Given the description of an element on the screen output the (x, y) to click on. 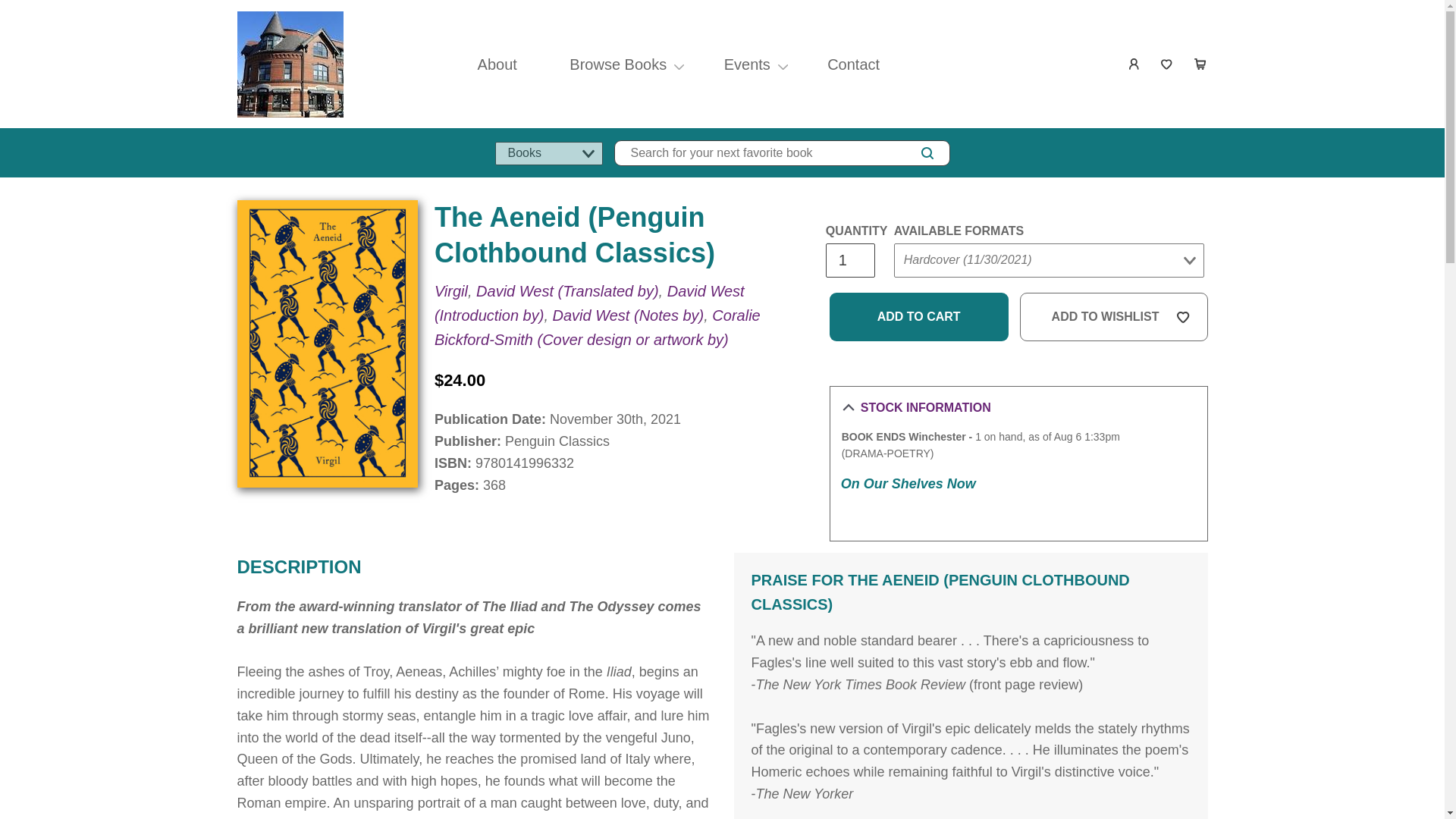
Contact (852, 64)
Events (747, 64)
Log in (1134, 64)
Add to cart (919, 316)
Add to cart (919, 316)
ADD TO WISHLIST (1114, 316)
SEARCH (926, 152)
1 (850, 260)
Browse Books (617, 64)
Wishlist (1168, 64)
Wishlists (1168, 64)
Virgil (450, 290)
Cart (1200, 64)
Cart (1200, 64)
